Given the description of an element on the screen output the (x, y) to click on. 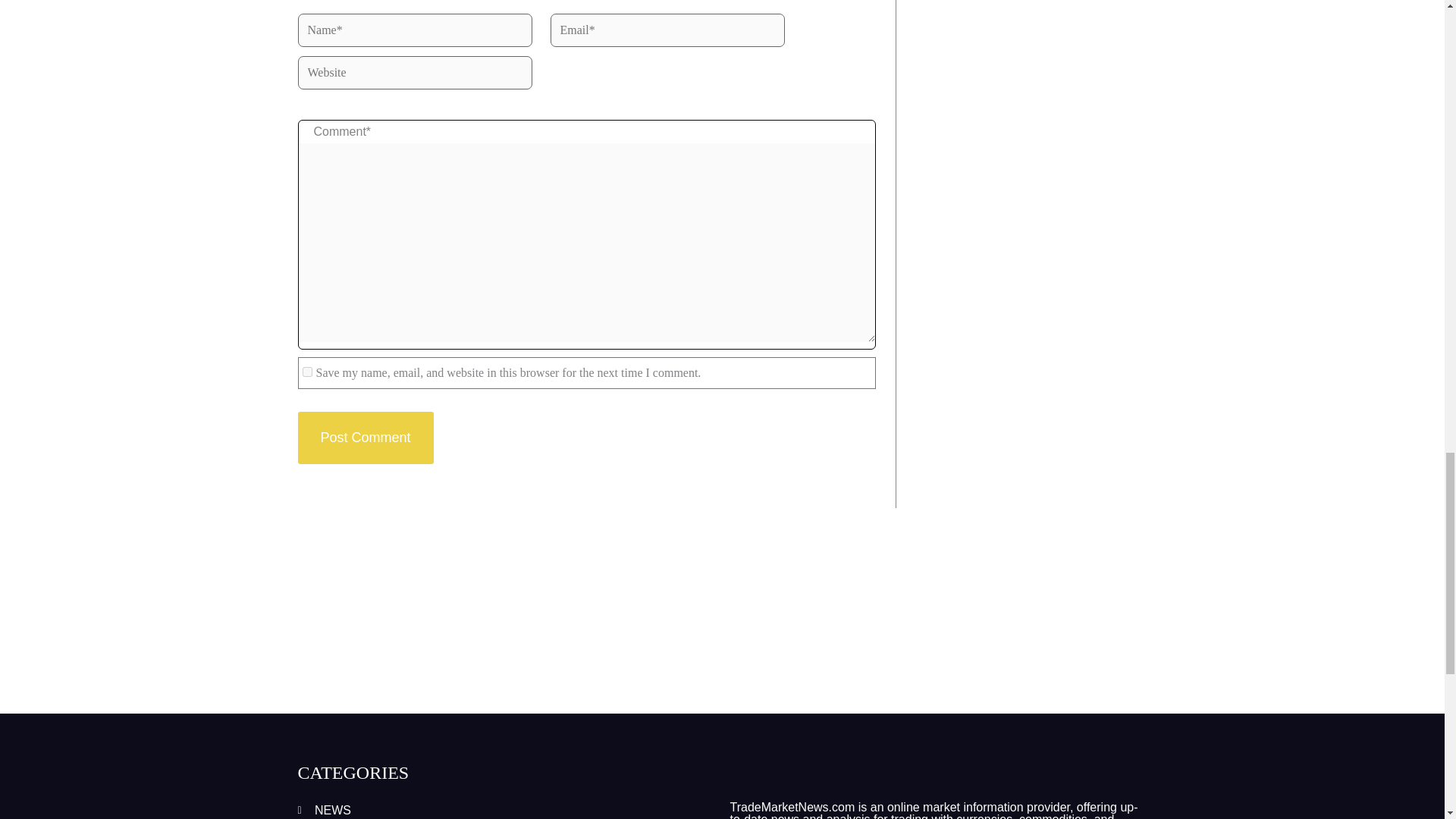
Post Comment (364, 437)
yes (306, 371)
